Given the description of an element on the screen output the (x, y) to click on. 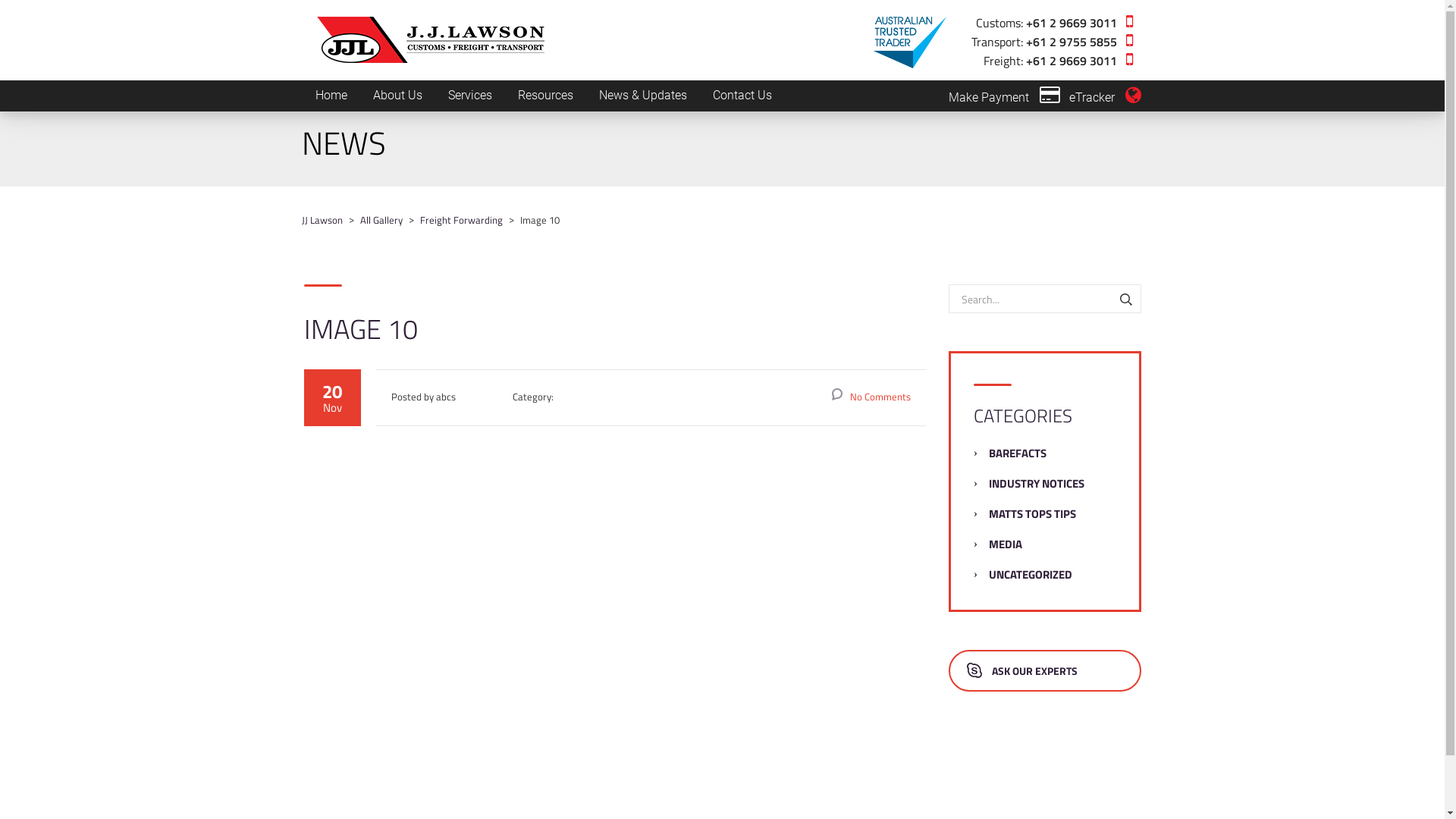
ASK OUR EXPERTS Element type: text (1044, 670)
Home Element type: text (330, 95)
+61 2 9669 3011 Element type: text (1070, 21)
JJ Lawson Element type: text (321, 219)
+61 2 9669 3011 Element type: text (1070, 59)
About Us Element type: text (396, 95)
UNCATEGORIZED Element type: text (1030, 574)
MEDIA Element type: text (1005, 543)
Resources Element type: text (545, 95)
Freight Forwarding Element type: text (461, 219)
MATTS TOPS TIPS Element type: text (1032, 513)
INDUSTRY NOTICES Element type: text (1036, 483)
Services Element type: text (469, 95)
News & Updates Element type: text (641, 95)
Make Payment Element type: text (1004, 97)
submit Element type: text (1021, 273)
Contact Us Element type: text (741, 95)
All Gallery Element type: text (380, 219)
BAREFACTS Element type: text (1017, 452)
No Comments Element type: text (870, 396)
+61 2 9755 5855 Element type: text (1070, 40)
